Given the description of an element on the screen output the (x, y) to click on. 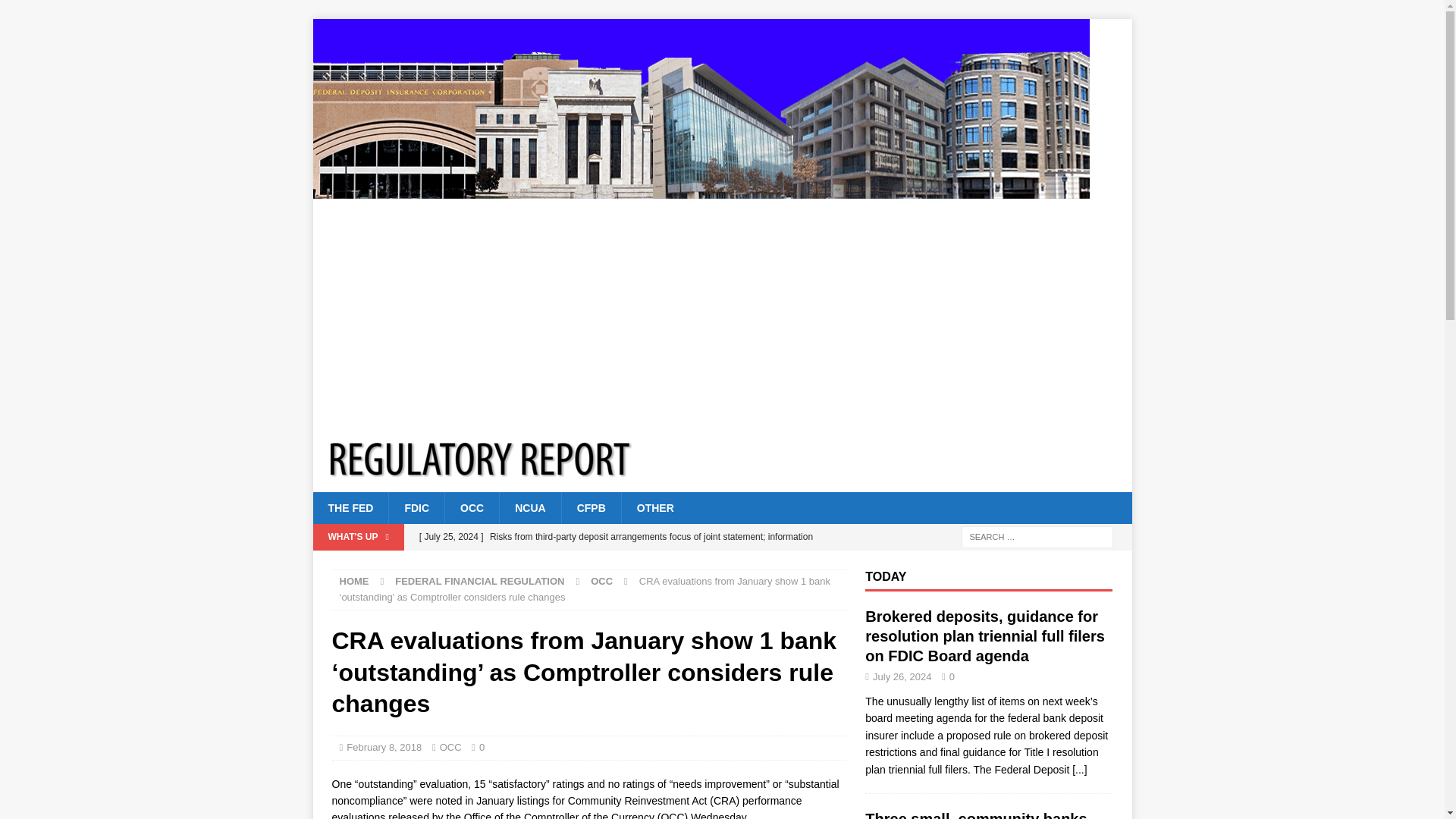
CFPB (590, 508)
February 8, 2018 (384, 747)
THE FED (350, 508)
OCC (601, 581)
HOME (354, 581)
Search (56, 11)
FDIC (416, 508)
OTHER (654, 508)
OCC (471, 508)
Regulatory Report (701, 190)
NCUA (529, 508)
OCC (450, 747)
